Given the description of an element on the screen output the (x, y) to click on. 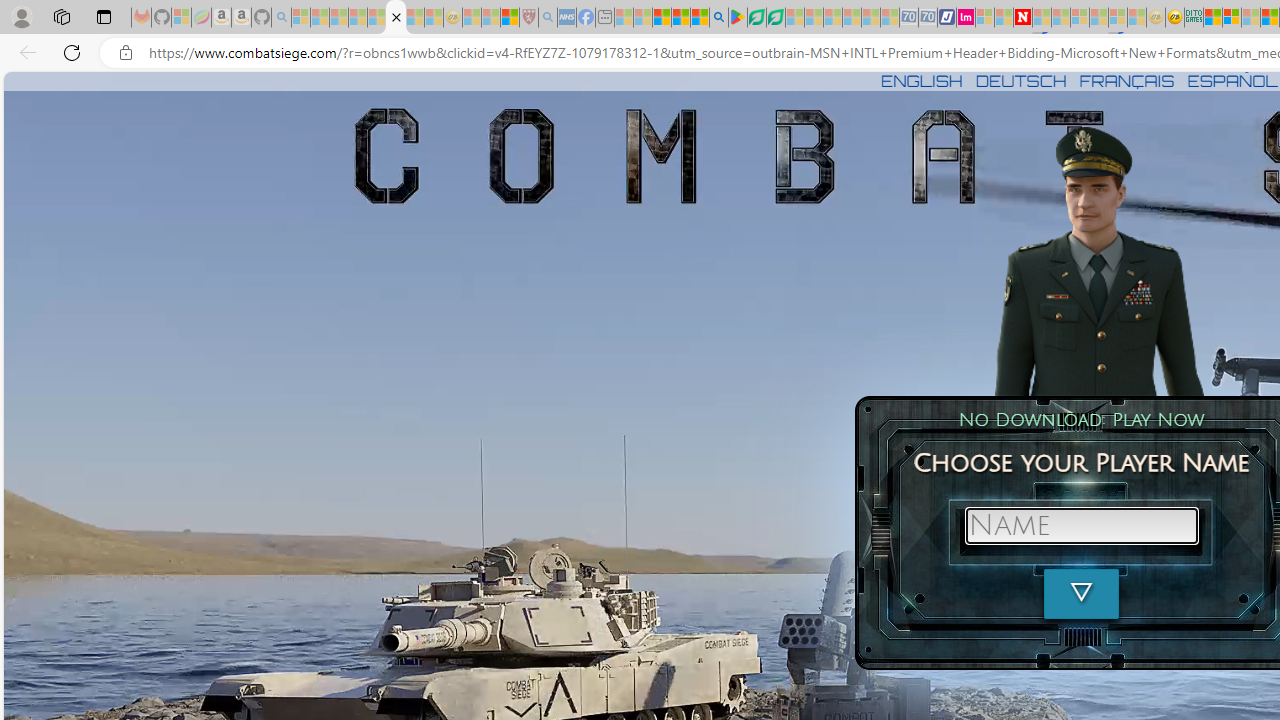
Bluey: Let's Play! - Apps on Google Play (737, 17)
The Weather Channel - MSN - Sleeping (339, 17)
Cheap Hotels - Save70.com - Sleeping (927, 17)
DITOGAMES AG Imprint (1194, 17)
Pets - MSN (680, 17)
14 Common Myths Debunked By Scientific Facts - Sleeping (1061, 17)
Name (1081, 525)
